Given the description of an element on the screen output the (x, y) to click on. 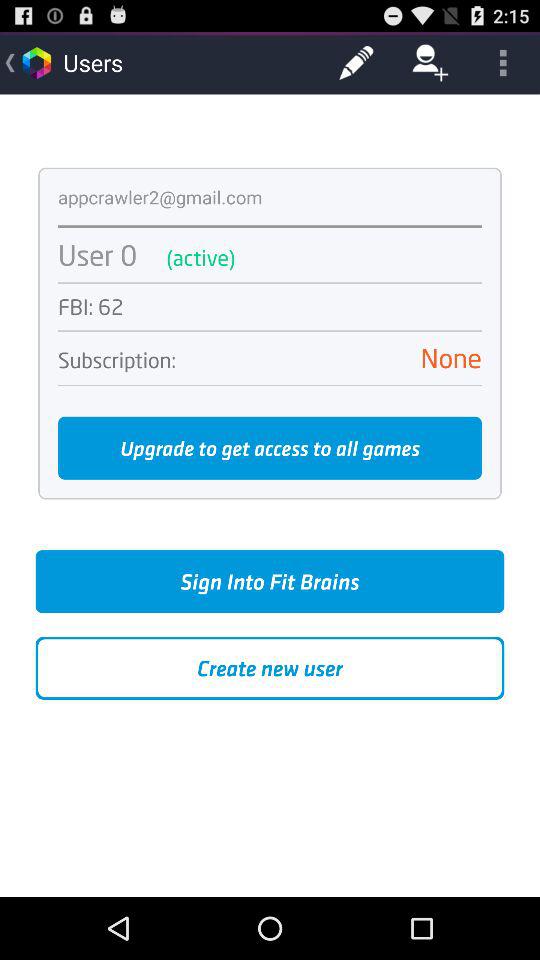
choose the icon above the upgrade to get item (269, 385)
